Given the description of an element on the screen output the (x, y) to click on. 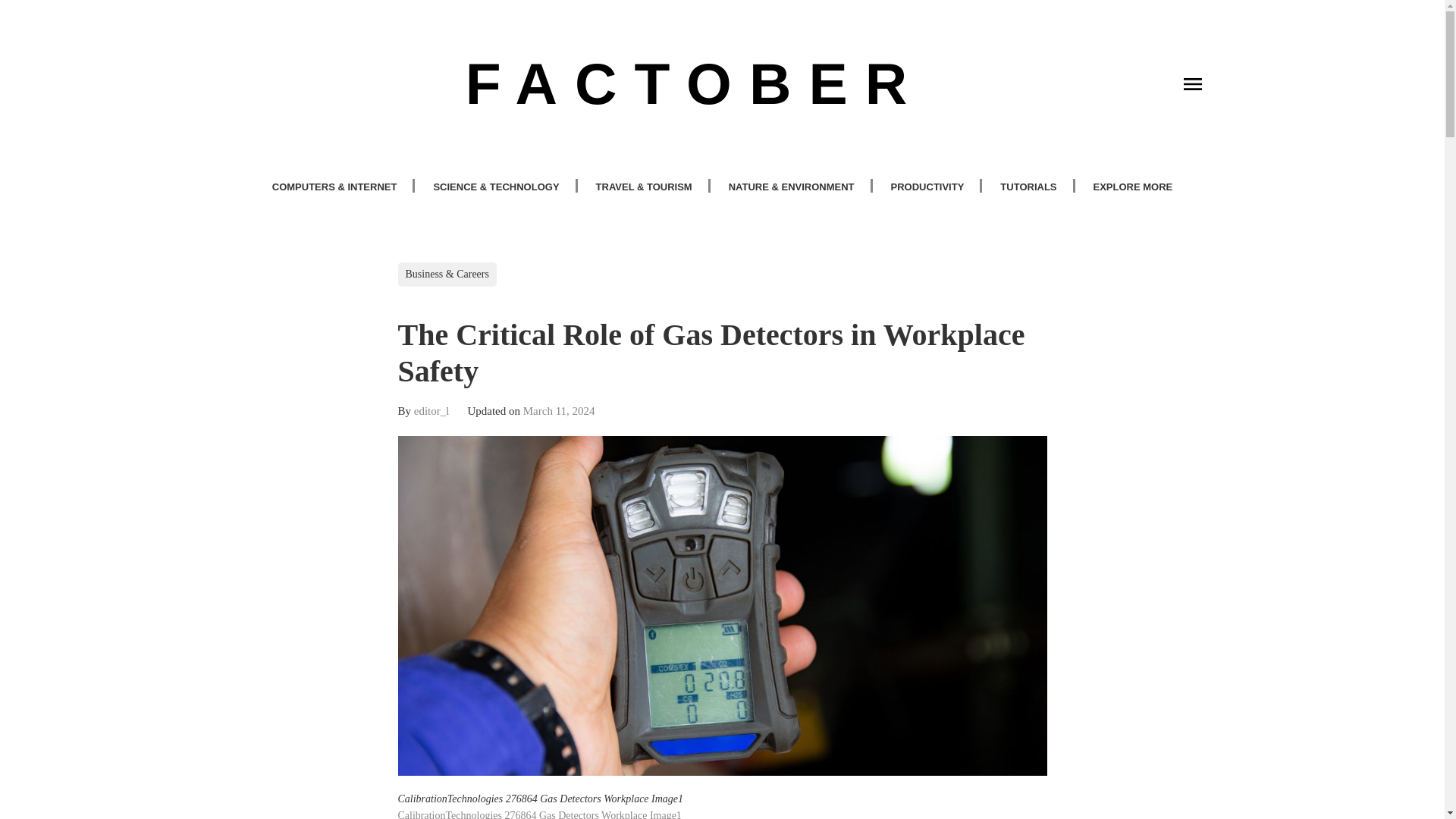
PRODUCTIVITY (928, 186)
TUTORIALS (1028, 186)
FACTOBER (694, 83)
March 11, 2024 (558, 411)
EXPLORE MORE (1133, 186)
